Given the description of an element on the screen output the (x, y) to click on. 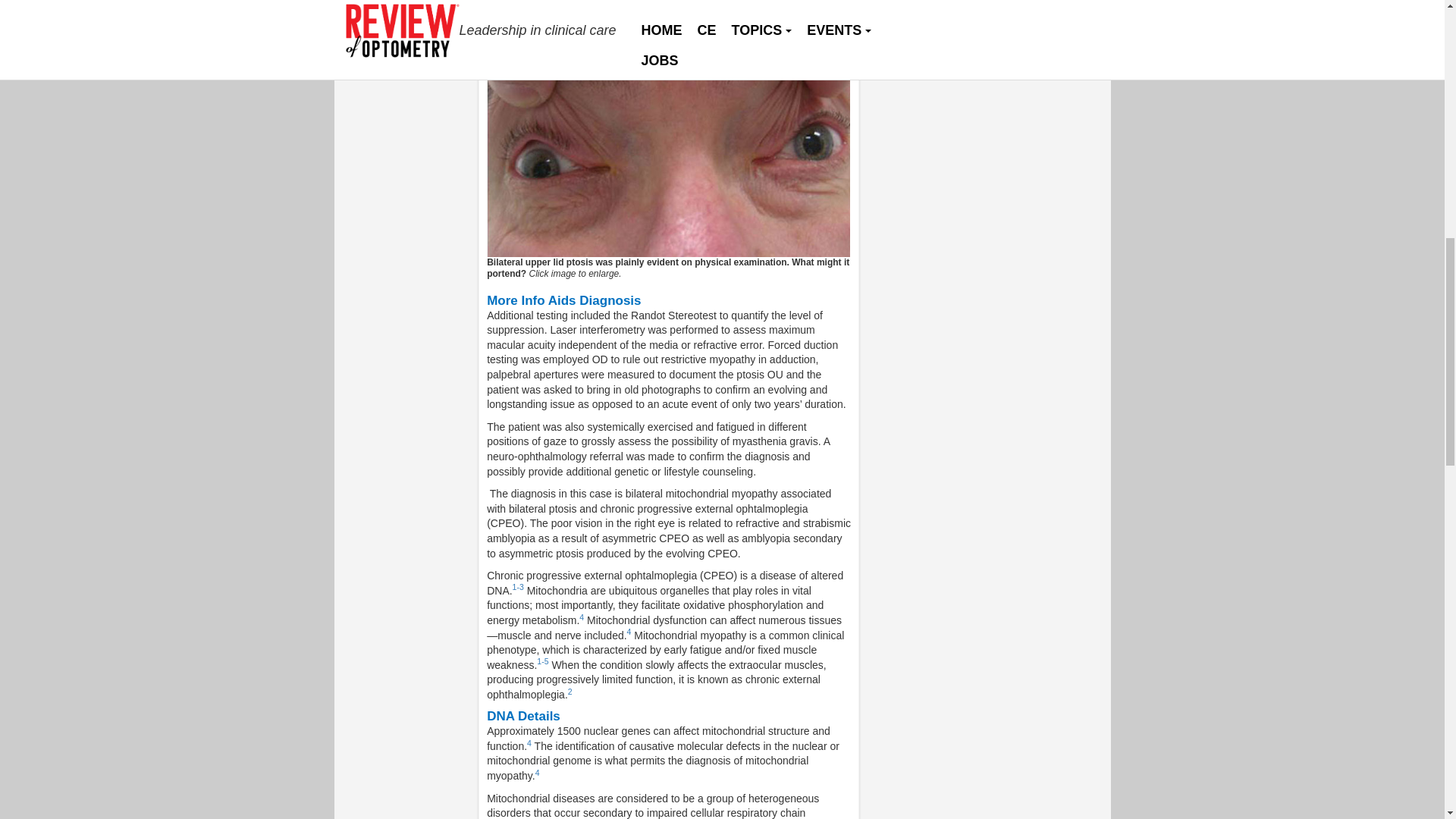
1-5 (542, 660)
1-3 (518, 586)
